Given the description of an element on the screen output the (x, y) to click on. 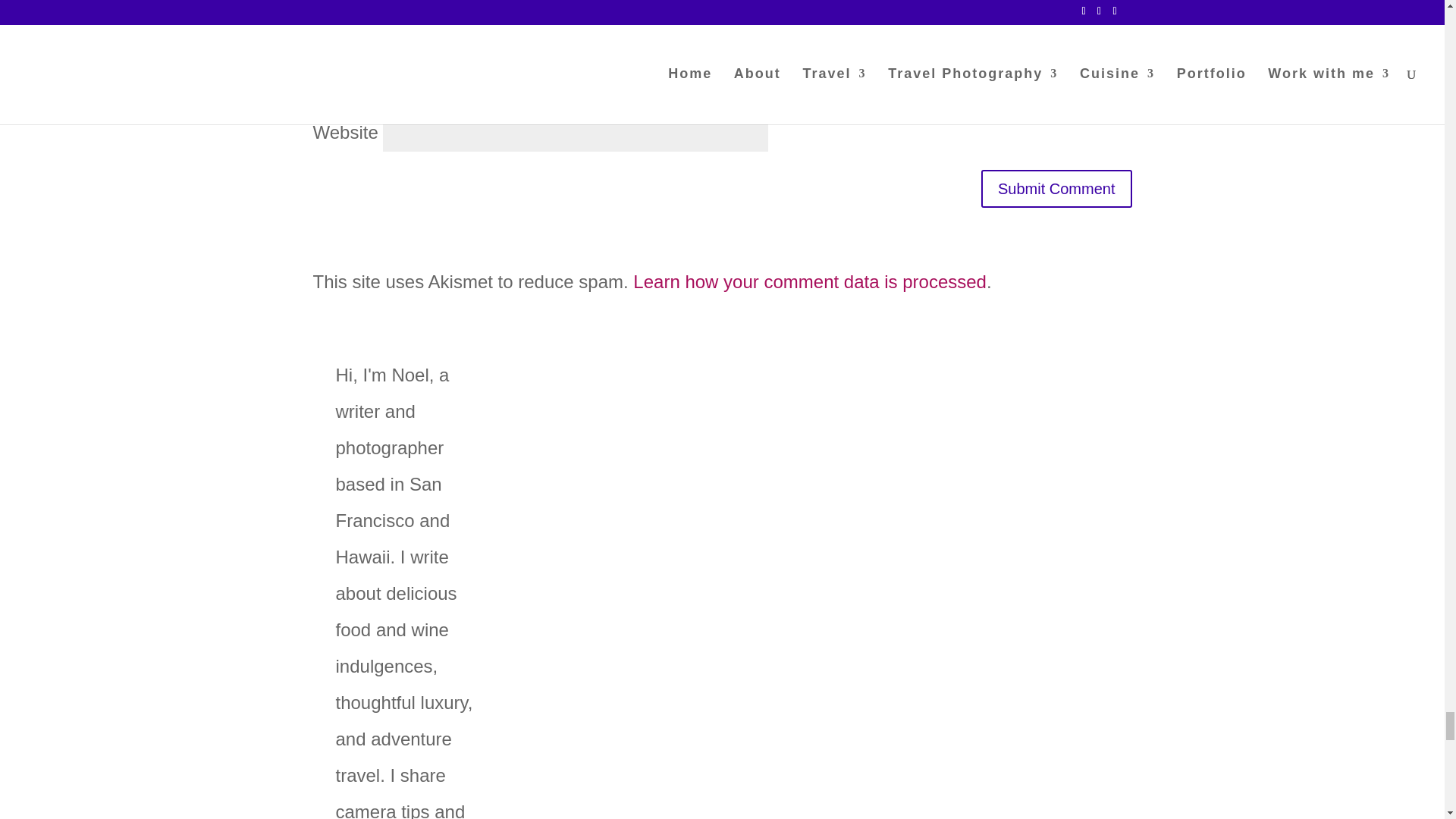
Submit Comment (1056, 188)
